Given the description of an element on the screen output the (x, y) to click on. 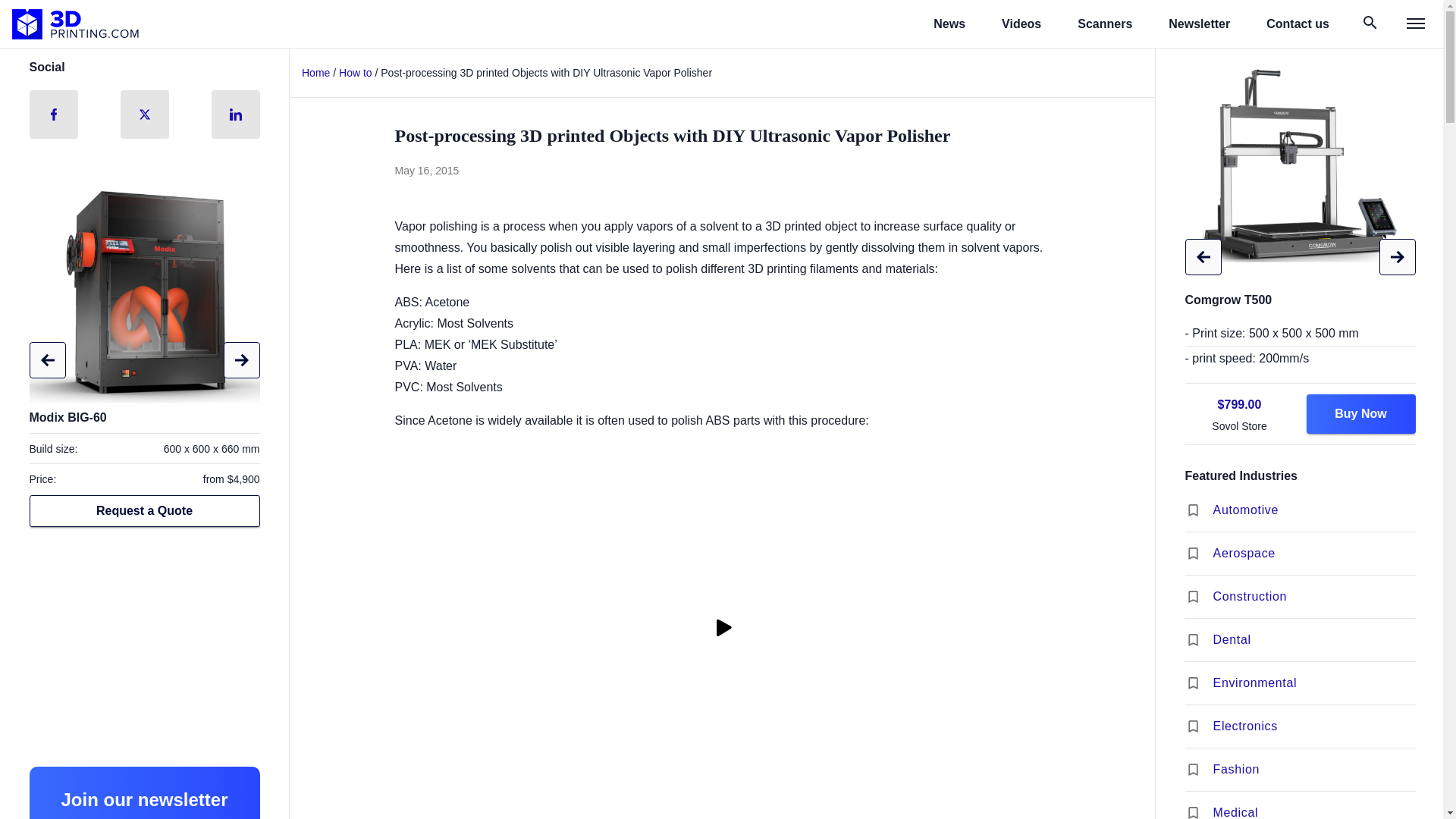
3D Printing (75, 24)
Scanners (1104, 23)
Advertisement (144, 647)
Videos (1021, 23)
Home (315, 72)
News (949, 23)
Newsletter (1198, 23)
How to (355, 72)
Contact us (1297, 23)
